Given the description of an element on the screen output the (x, y) to click on. 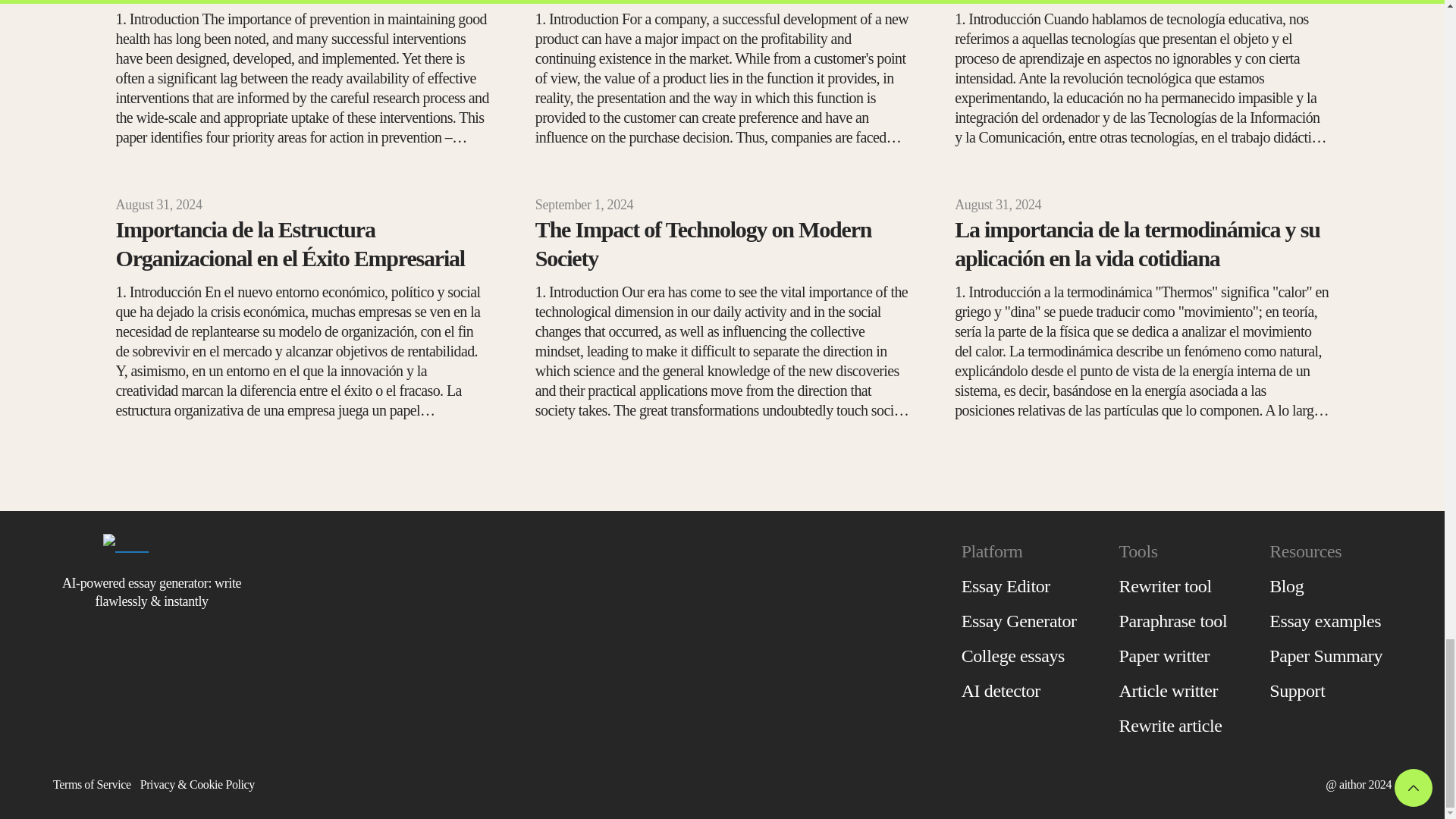
Essay Editor (1019, 585)
The Impact of Technology on Modern Society (721, 243)
College essays (1019, 655)
Essay Generator (1019, 620)
